Given the description of an element on the screen output the (x, y) to click on. 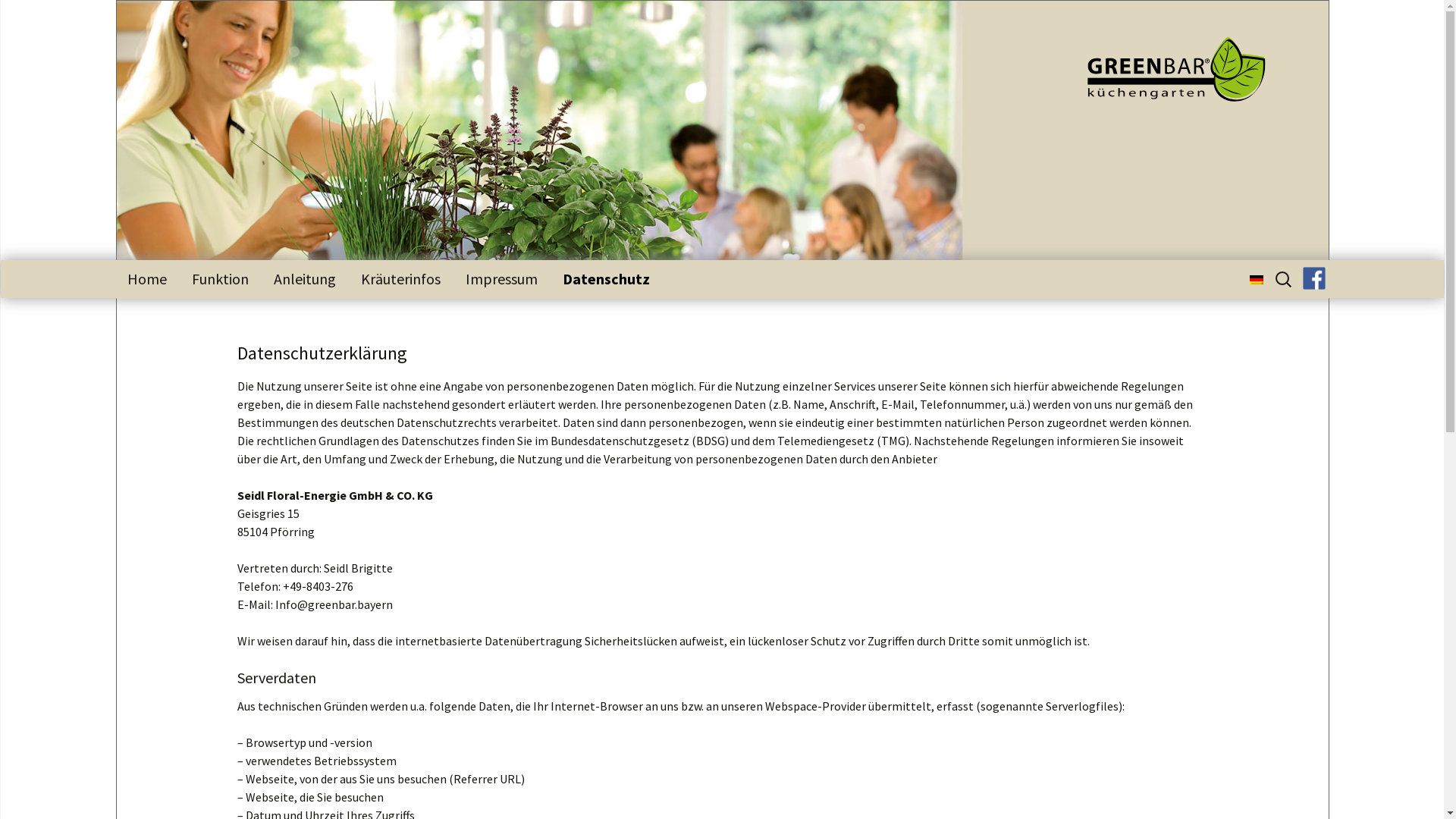
Greenbar Element type: hover (1160, 73)
Anleitung Element type: text (304, 279)
Impressum Element type: text (500, 279)
Suche Element type: text (18, 16)
Datenschutz Element type: text (605, 279)
Home Element type: text (146, 279)
Zum Inhalt springen Element type: text (115, 259)
Basilikum Element type: text (443, 309)
Funktion Element type: text (220, 279)
